Given the description of an element on the screen output the (x, y) to click on. 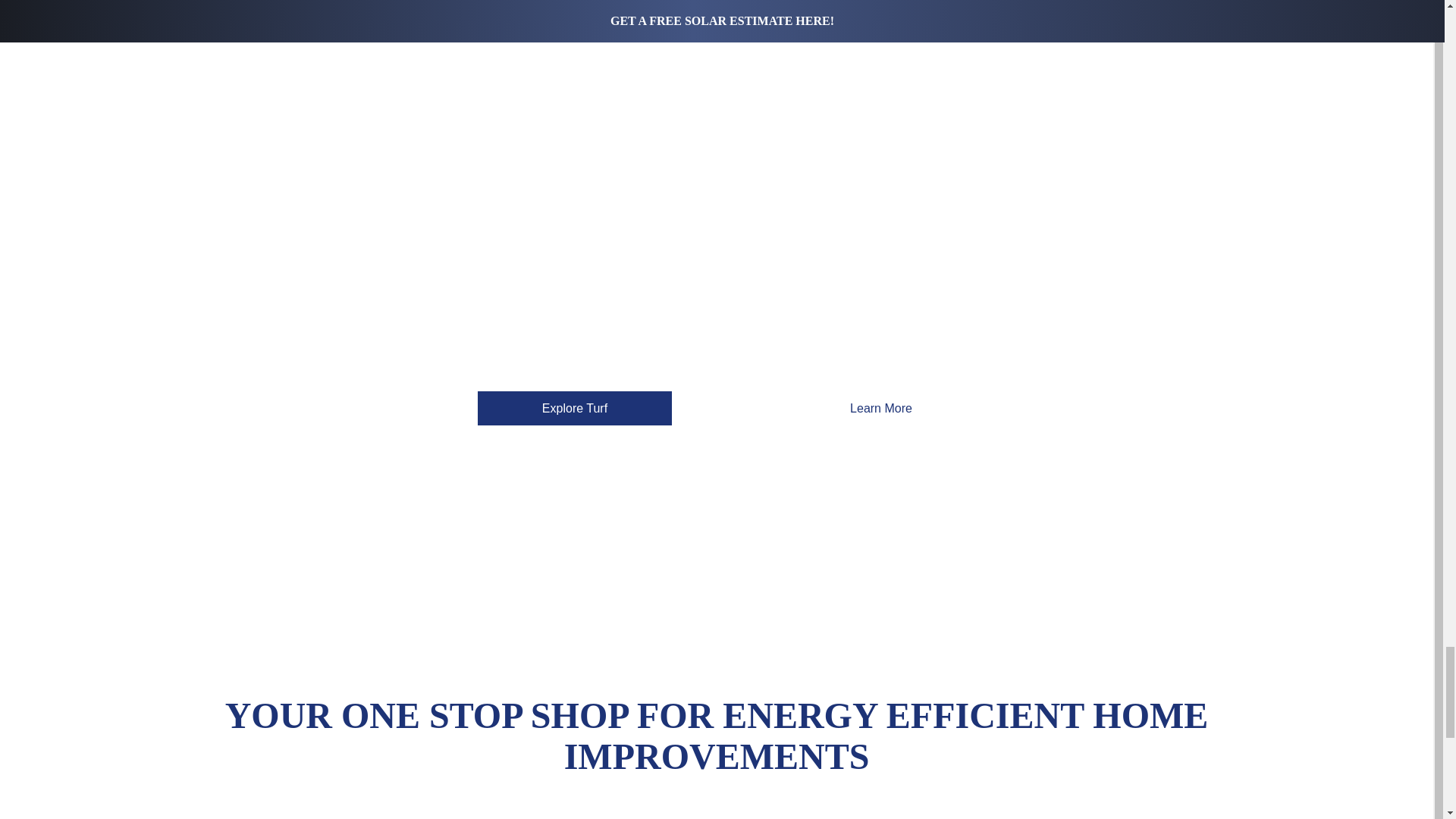
Explore Turf (574, 408)
Learn More (881, 408)
